Given the description of an element on the screen output the (x, y) to click on. 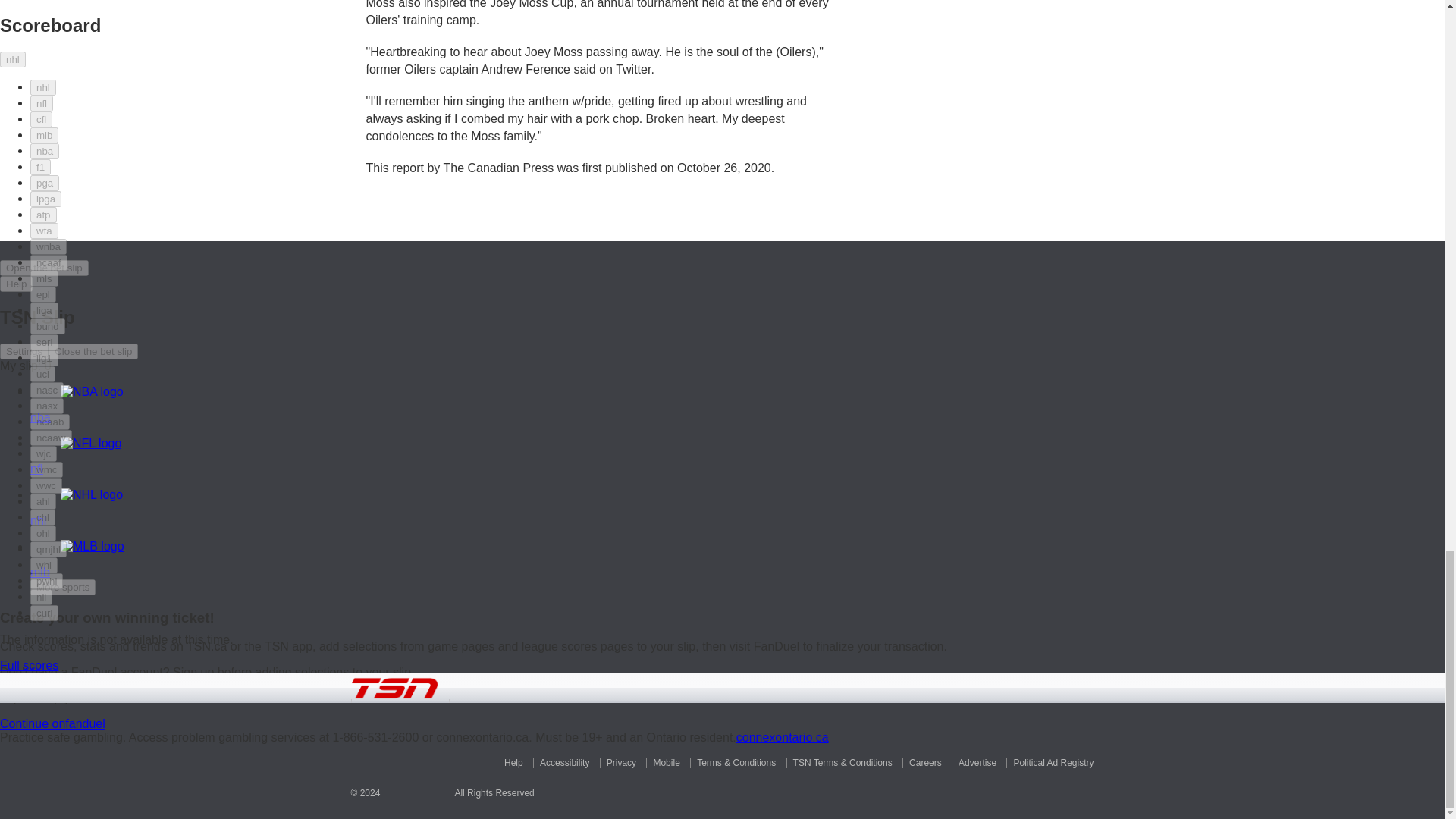
Bell Media (416, 788)
